Given the description of an element on the screen output the (x, y) to click on. 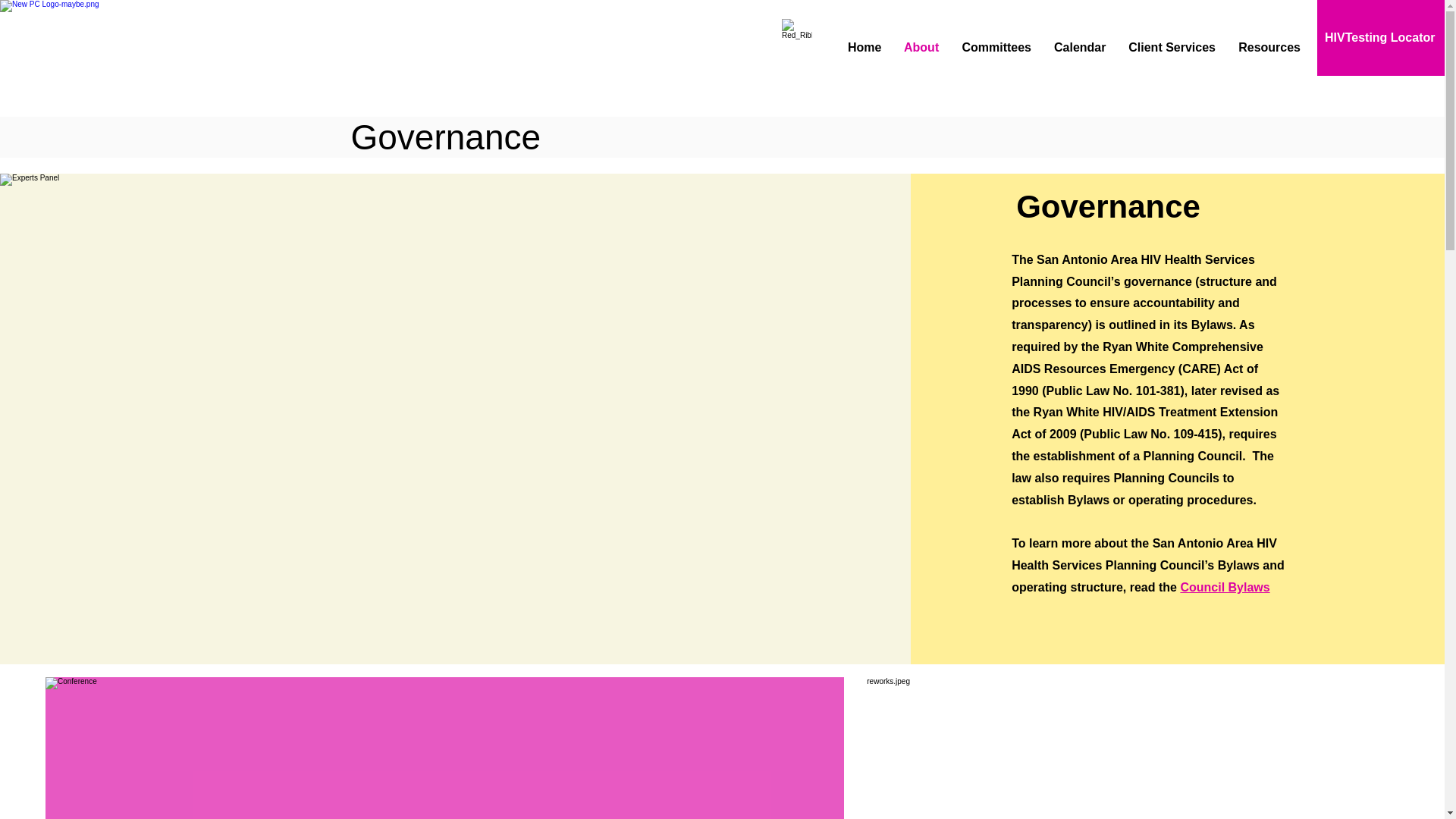
Calendar (1079, 47)
Client Services (1171, 47)
Council Bylaws (1224, 586)
About (921, 47)
Home (863, 47)
Resources (1269, 47)
New PC Logo-maybe.png (116, 52)
